Given the description of an element on the screen output the (x, y) to click on. 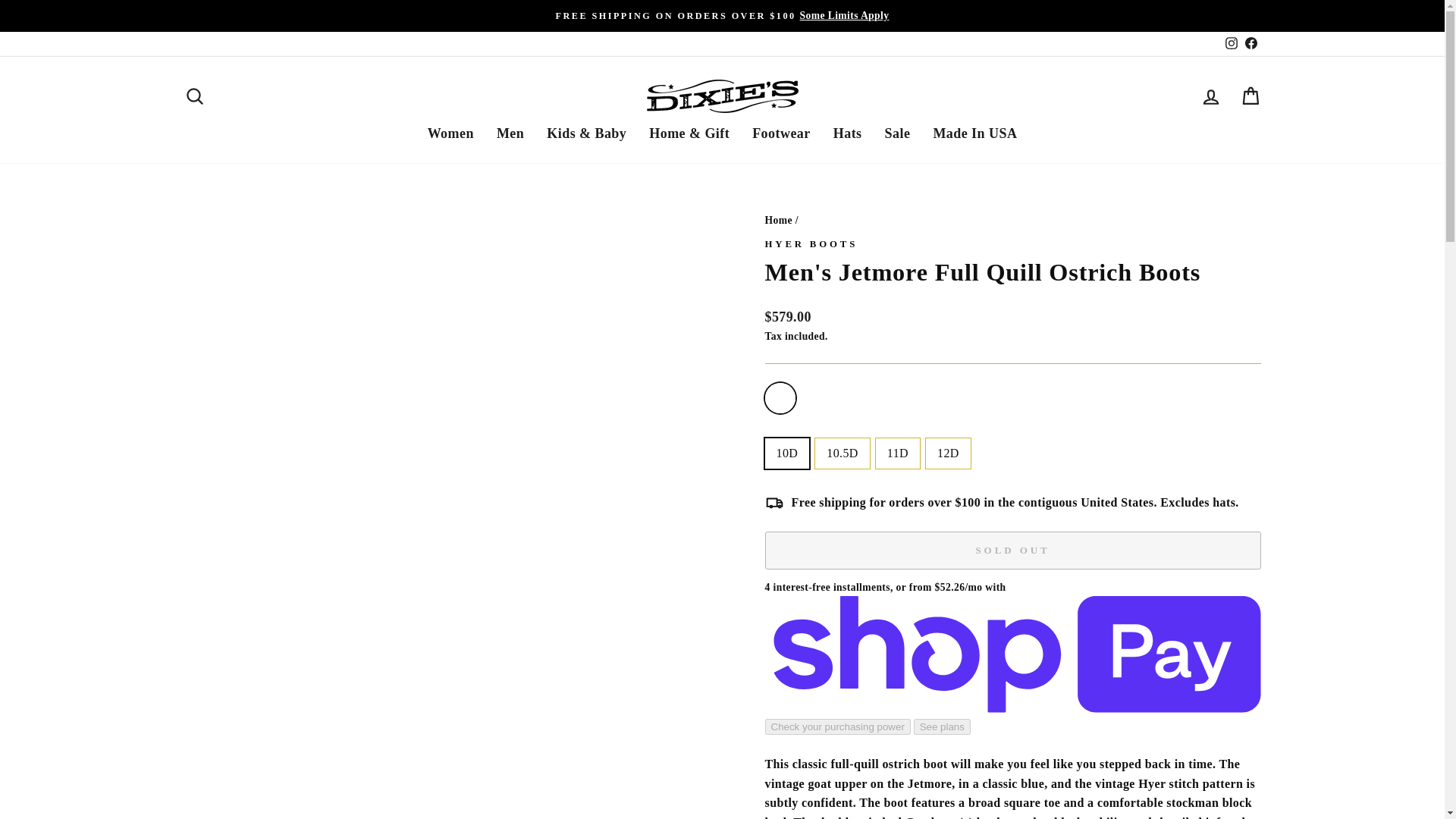
Back to the frontpage (778, 220)
